Given the description of an element on the screen output the (x, y) to click on. 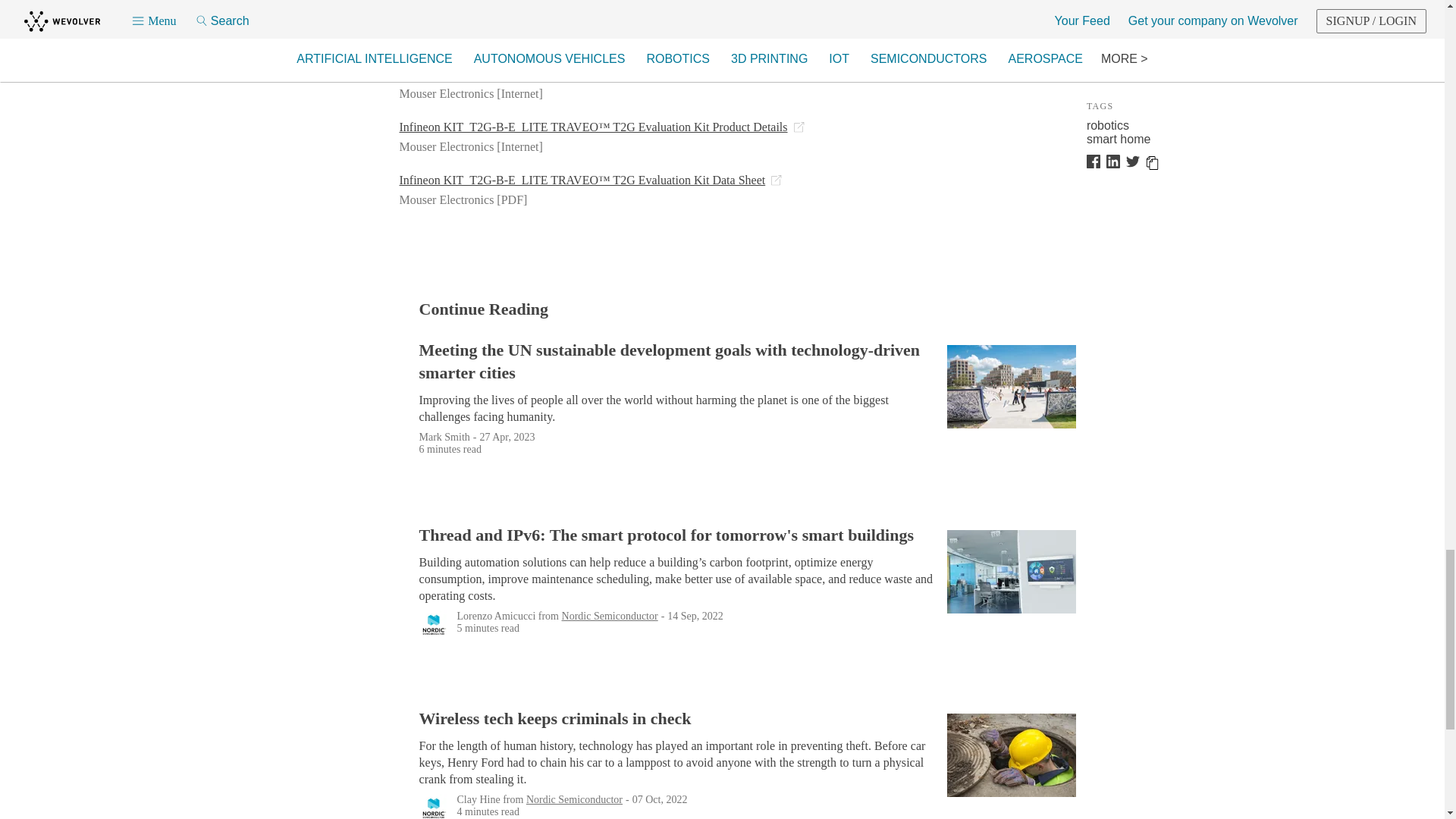
Wireless tech keeps criminals in check (679, 719)
Mark Smith (443, 436)
Lorenzo Amicucci (496, 614)
Nordic Semiconductor (610, 614)
